Given the description of an element on the screen output the (x, y) to click on. 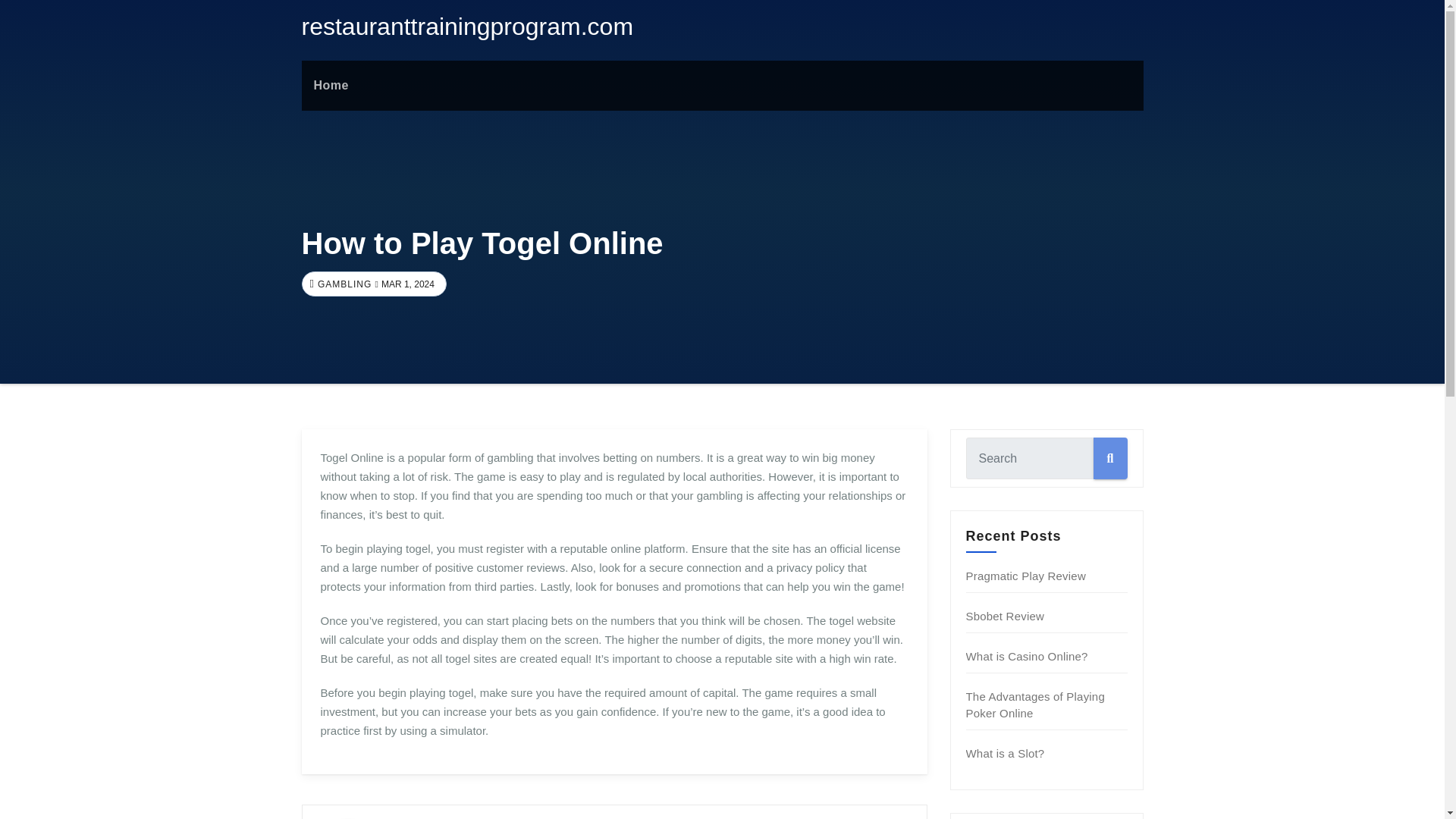
What is a Slot? (1005, 753)
Home (331, 85)
Pragmatic Play Review (1026, 575)
What is Casino Online? (1026, 656)
Home (331, 85)
The Advantages of Playing Poker Online (1035, 704)
GAMBLING (342, 284)
restauranttrainingprogram.com (467, 26)
Sbobet Review (1005, 615)
